Given the description of an element on the screen output the (x, y) to click on. 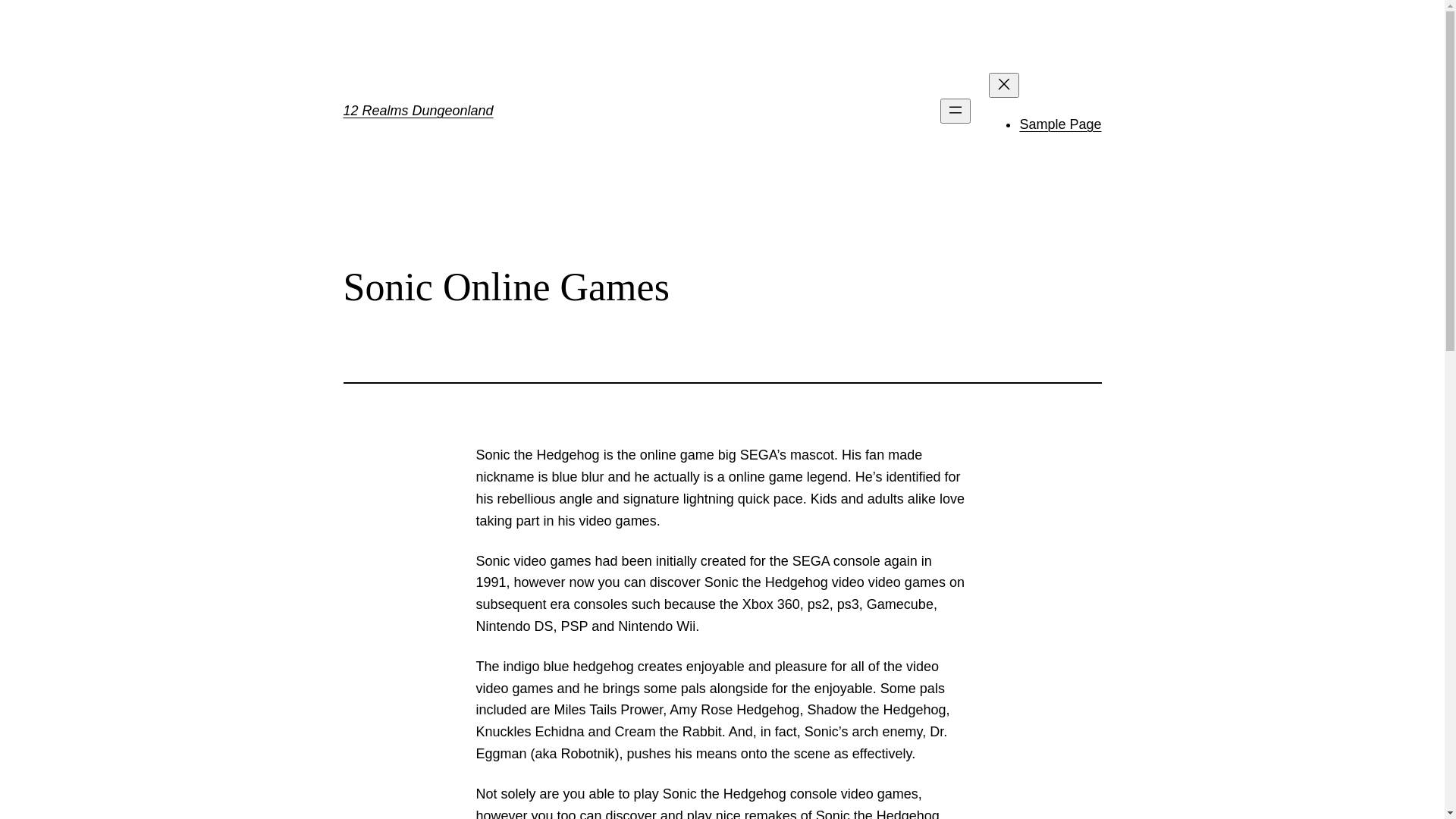
Sample Page Element type: text (1060, 123)
12 Realms Dungeonland Element type: text (417, 110)
